Given the description of an element on the screen output the (x, y) to click on. 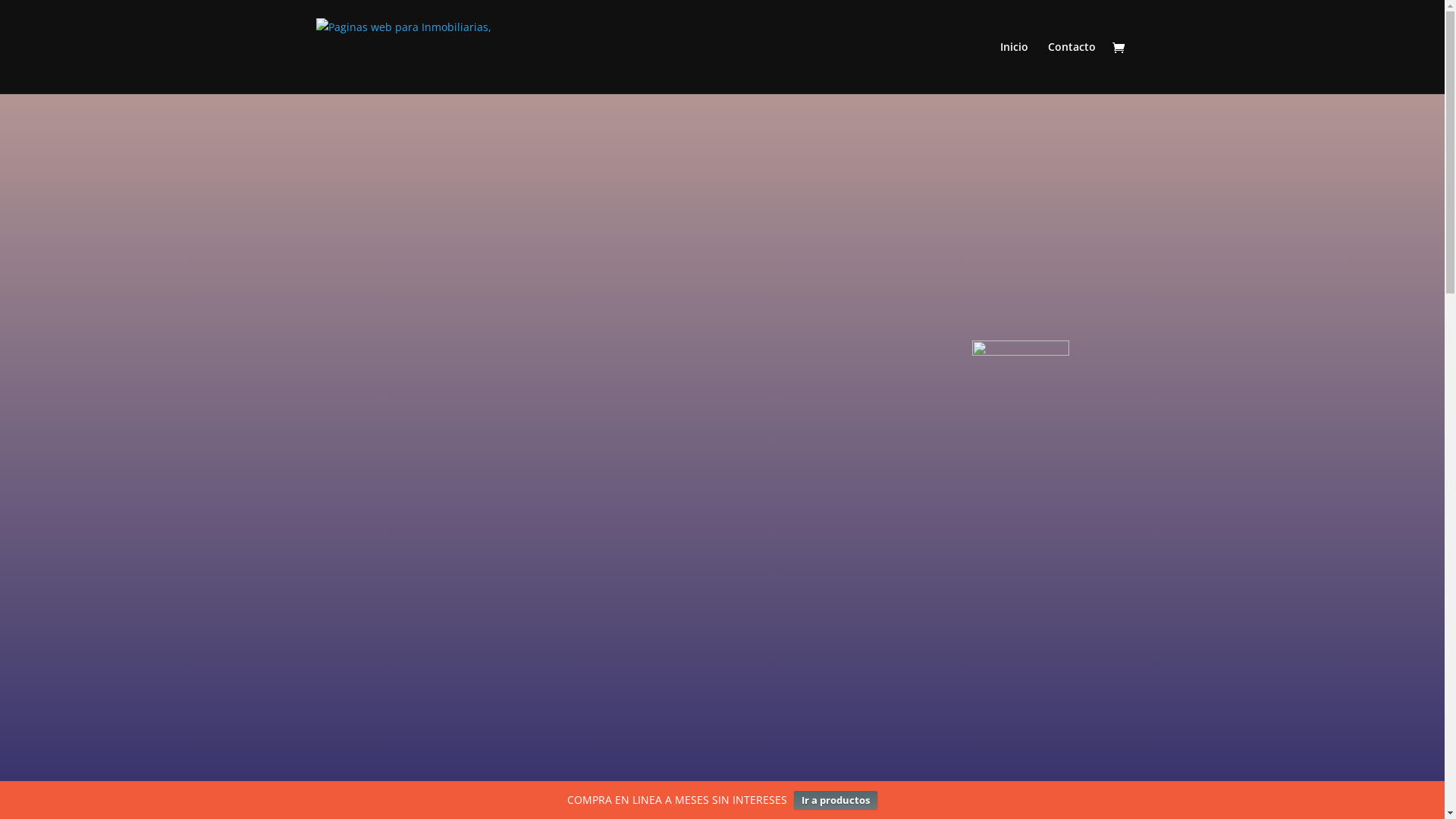
Ir a productos Element type: text (835, 799)
Contacto Element type: text (1071, 67)
Inicio Element type: text (1013, 67)
